Given the description of an element on the screen output the (x, y) to click on. 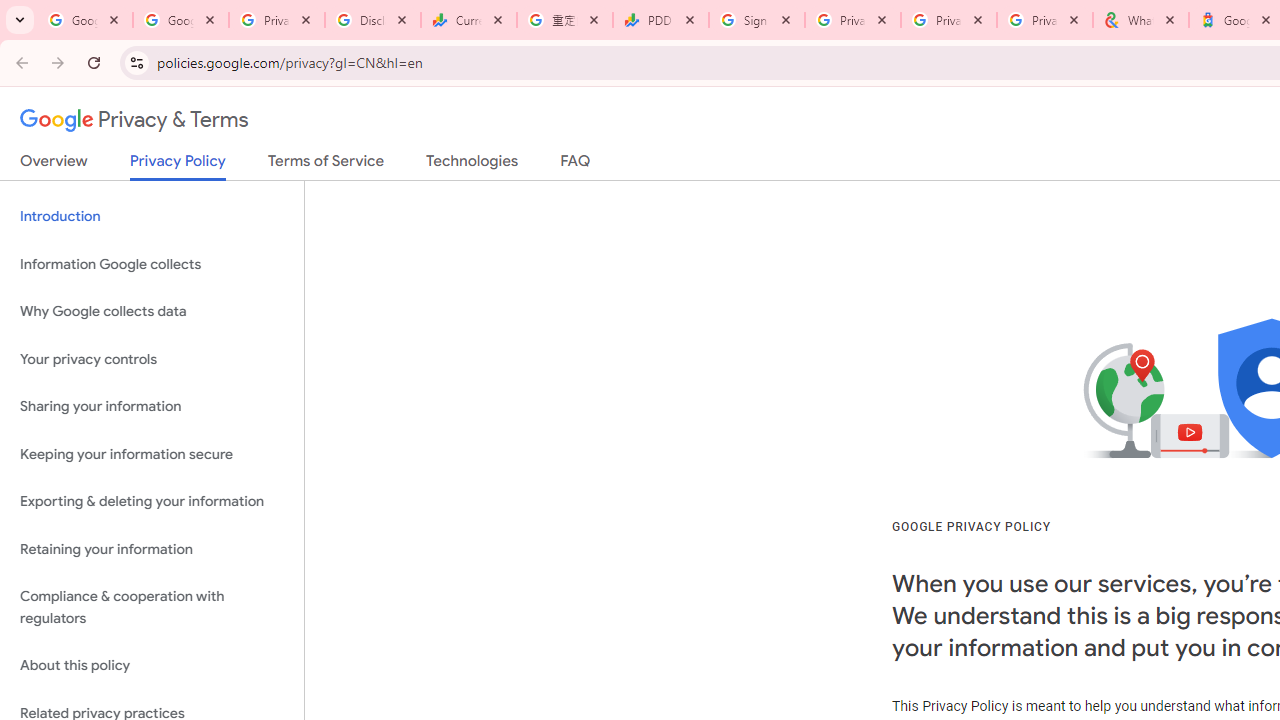
Privacy Checkup (1045, 20)
Sign in - Google Accounts (757, 20)
Currencies - Google Finance (469, 20)
